Given the description of an element on the screen output the (x, y) to click on. 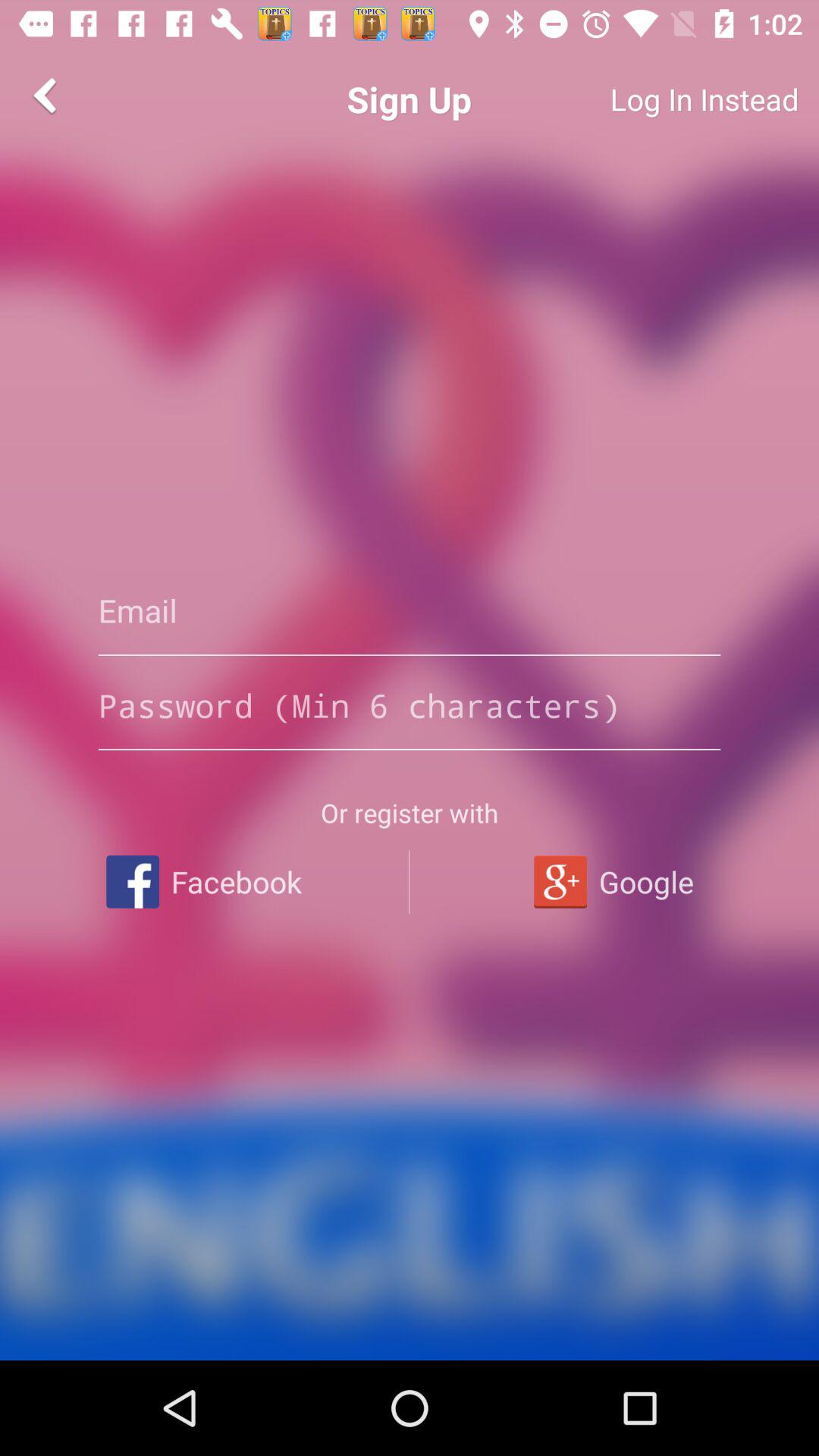
open the item next to the sign up item (649, 99)
